Given the description of an element on the screen output the (x, y) to click on. 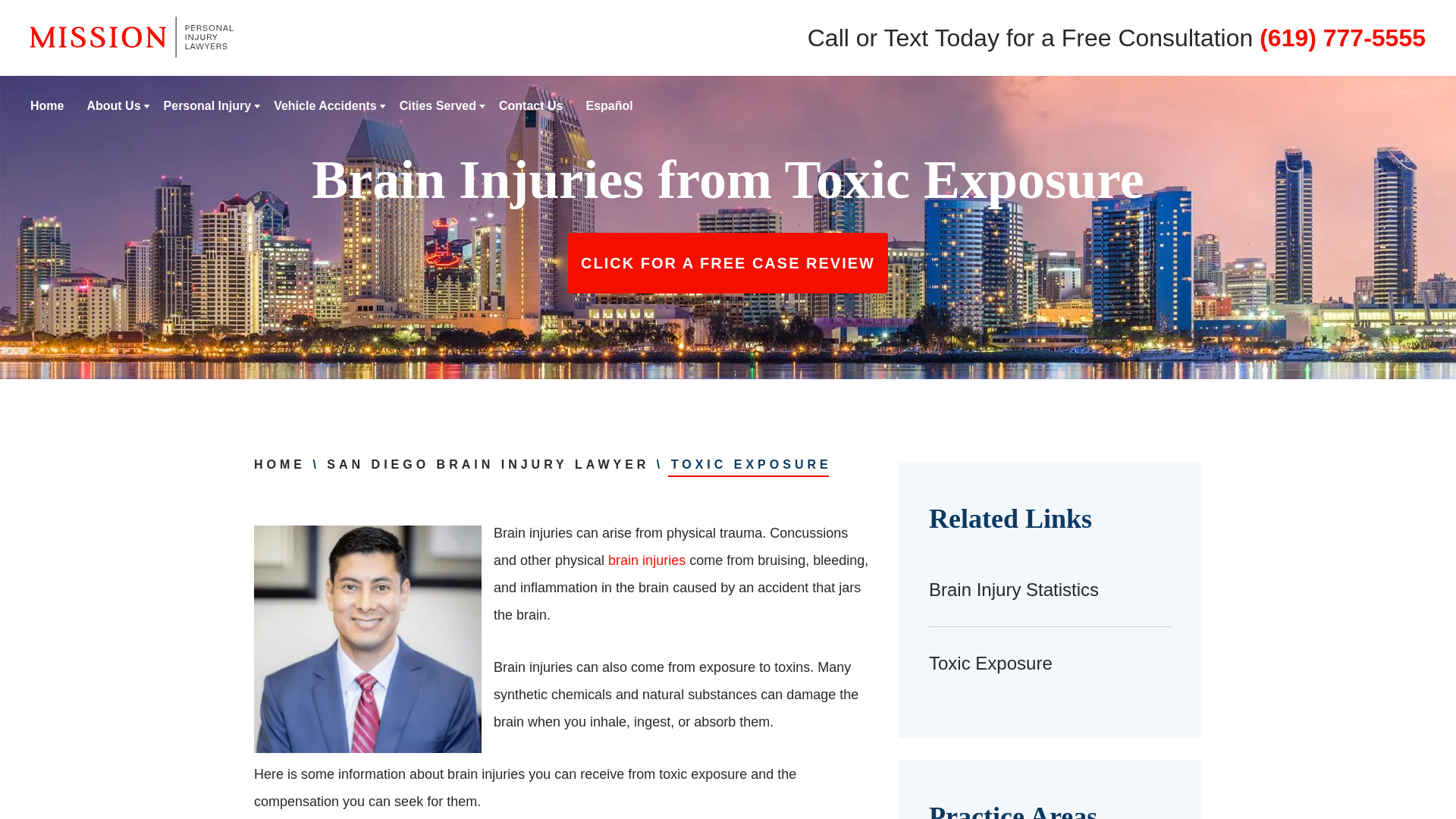
CLICK FOR A FREE CASE REVIEW (727, 261)
Personal Injury (207, 105)
HOME (279, 463)
CLICK FOR A FREE CASE REVIEW (727, 261)
Vehicle Accidents (324, 105)
Contact Us (530, 105)
Cities Served (437, 105)
SAN DIEGO BRAIN INJURY LAWYER (487, 463)
brain injuries (646, 560)
About Us (112, 105)
Home (47, 105)
